Given the description of an element on the screen output the (x, y) to click on. 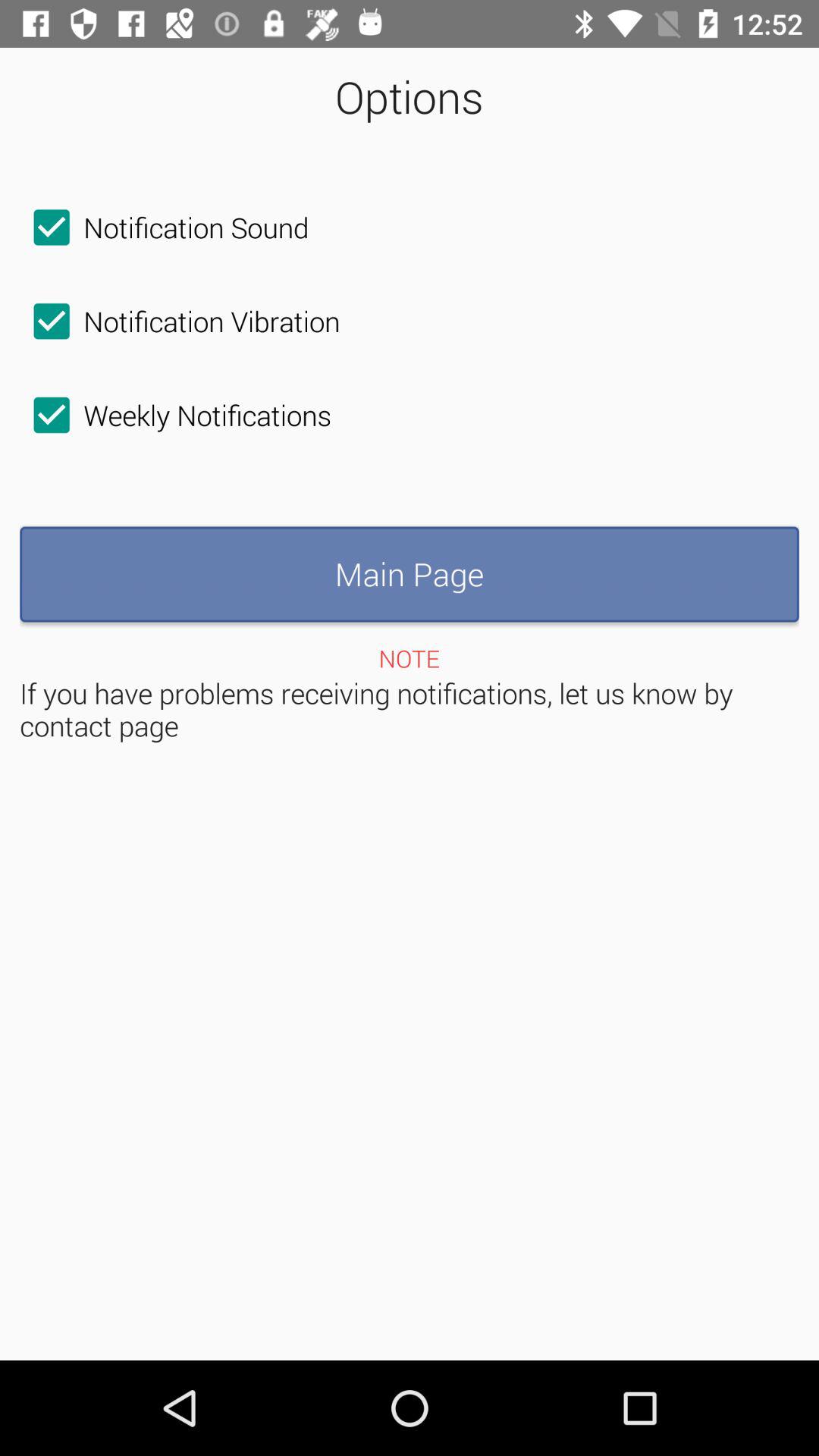
press the main page (409, 574)
